Given the description of an element on the screen output the (x, y) to click on. 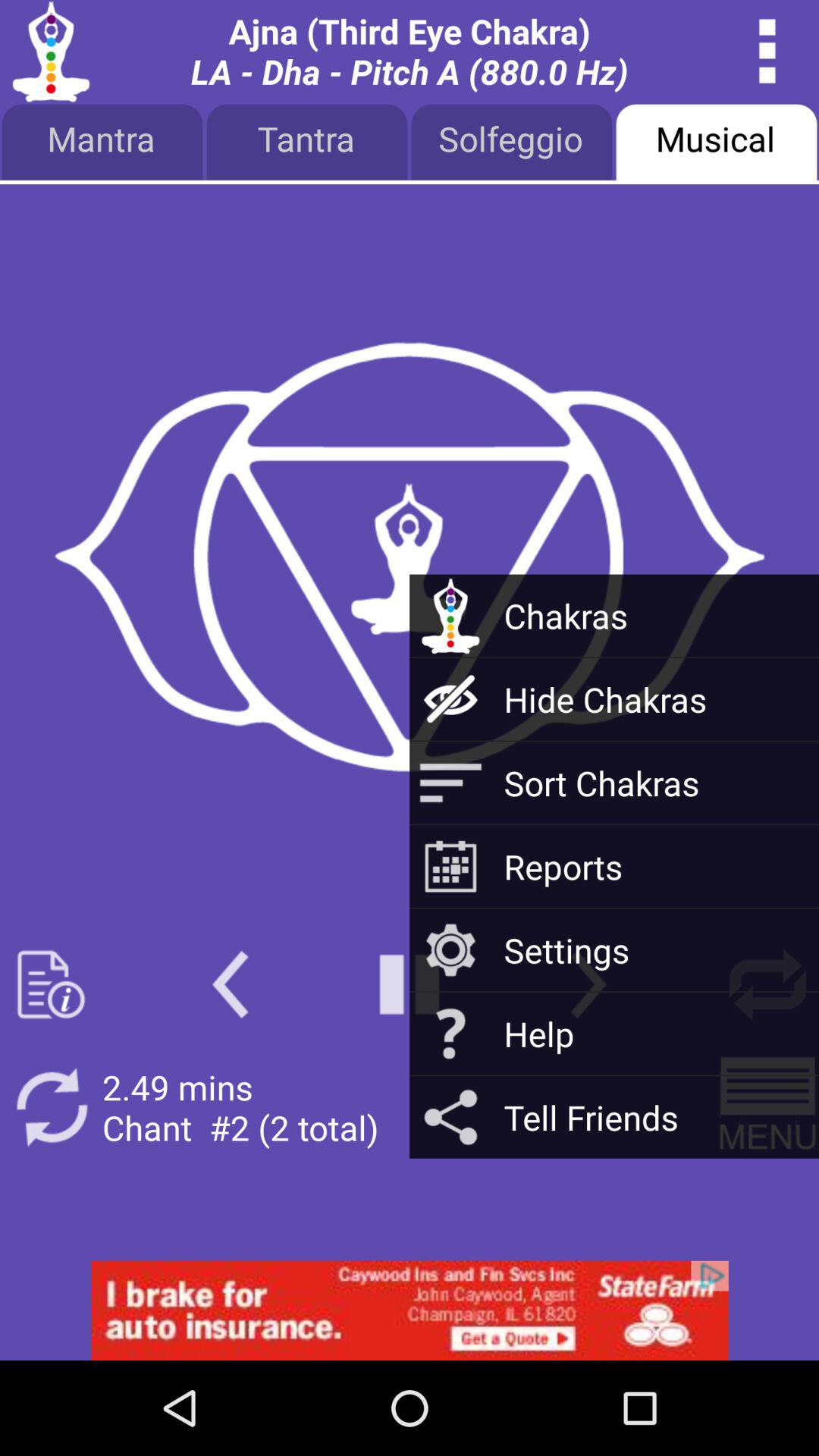
refresh button (767, 984)
